Given the description of an element on the screen output the (x, y) to click on. 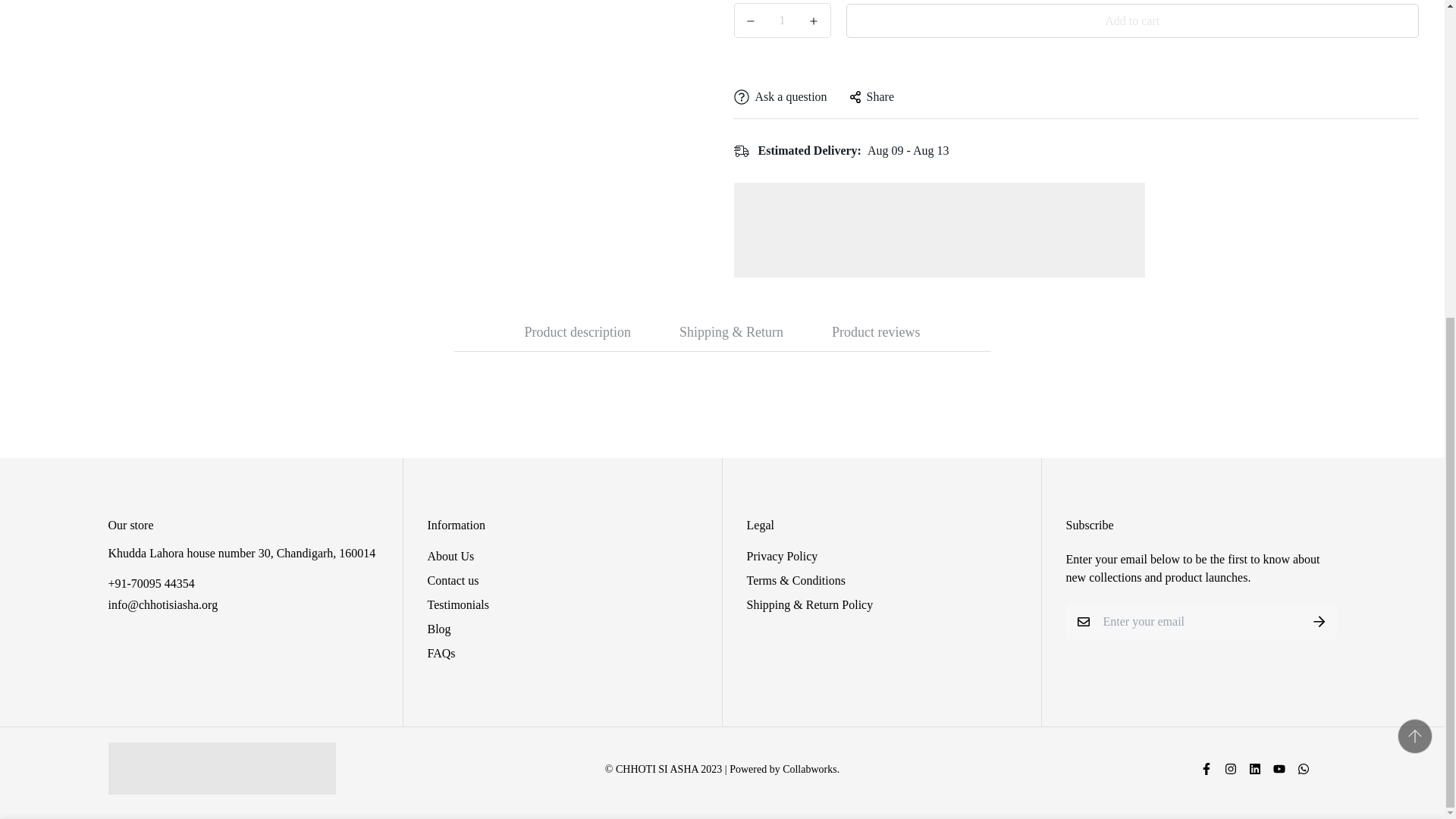
1 (1085, 334)
